Given the description of an element on the screen output the (x, y) to click on. 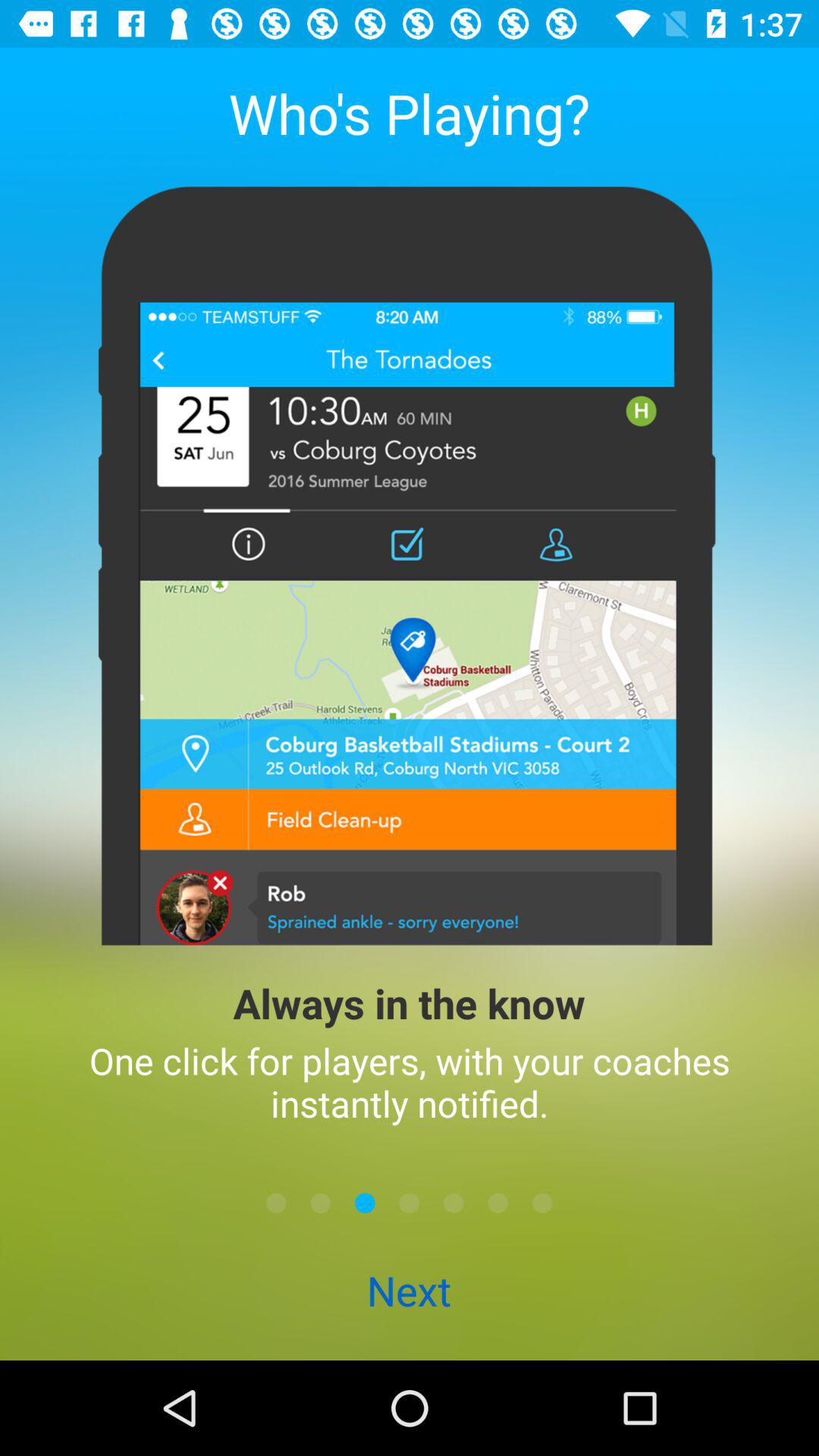
launch icon above next item (453, 1203)
